Given the description of an element on the screen output the (x, y) to click on. 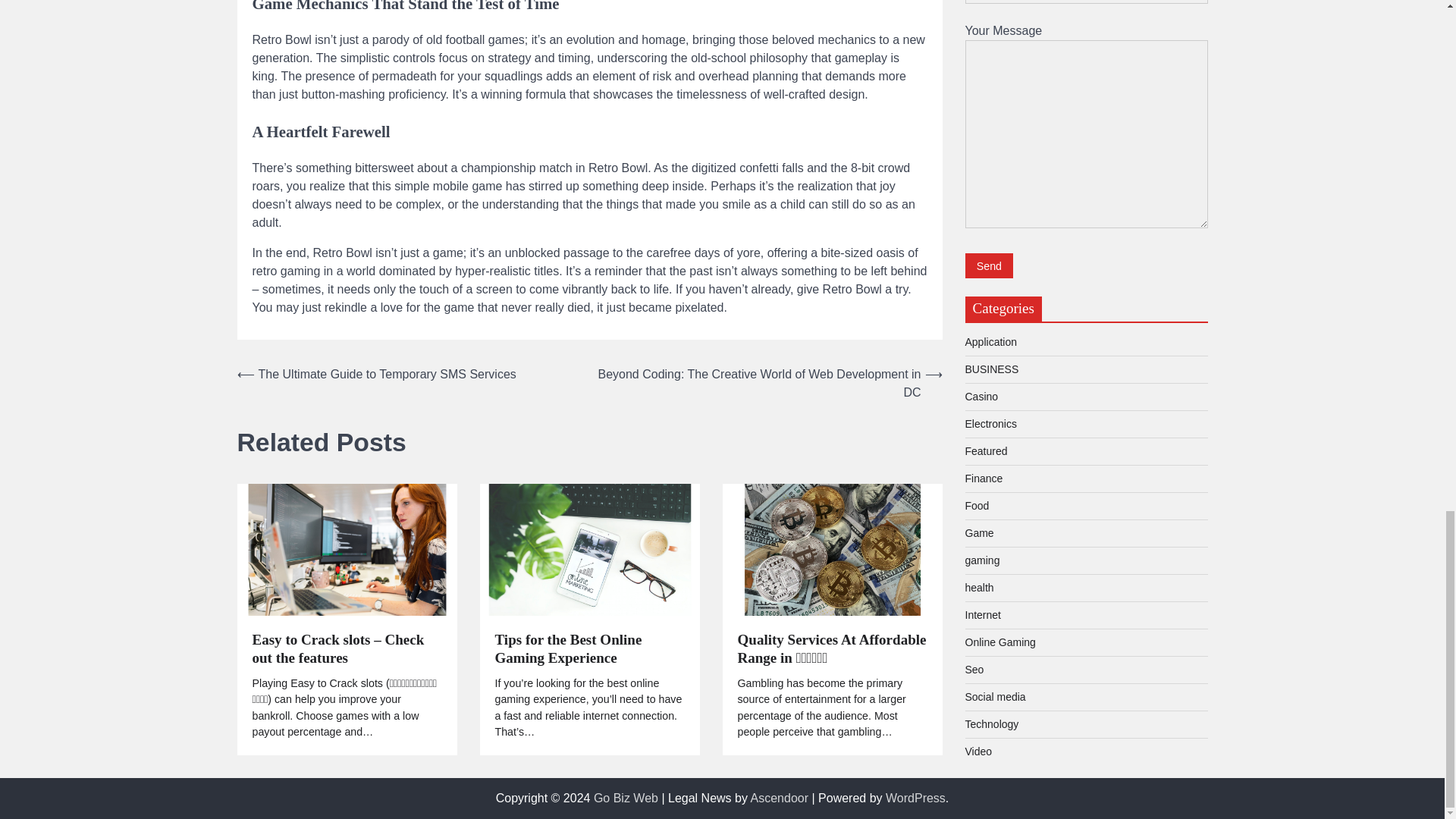
Tips for the Best Online Gaming Experience (589, 649)
Go Biz Web (626, 797)
